Given the description of an element on the screen output the (x, y) to click on. 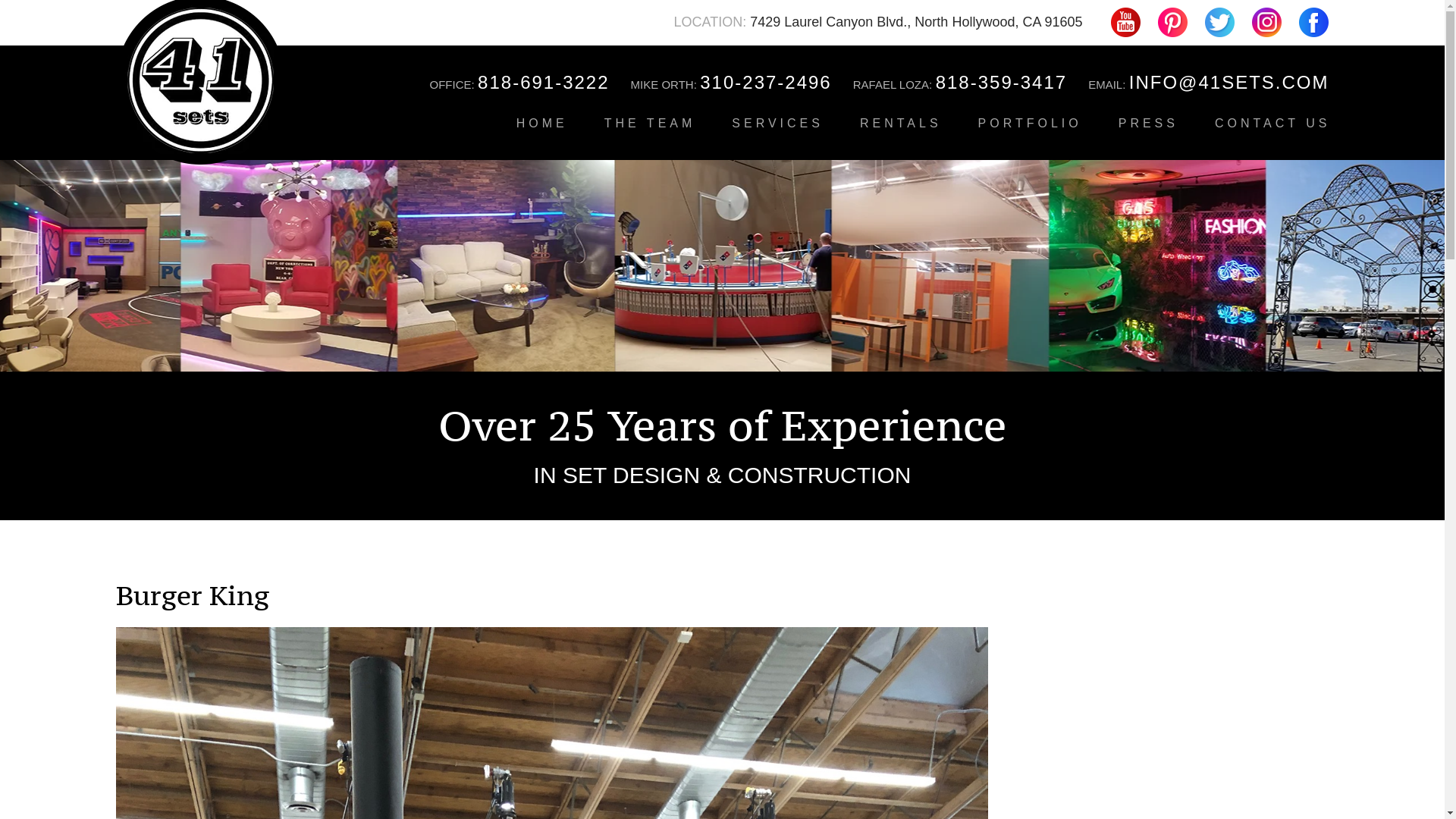
SERVICES Element type: text (777, 122)
INFO@41SETS.COM Element type: text (1229, 82)
310-237-2496 Element type: text (765, 82)
CONTACT US Element type: text (1272, 122)
PORTFOLIO Element type: text (1030, 122)
818-691-3222 Element type: text (542, 82)
THE TEAM Element type: text (650, 122)
818-359-3417 Element type: text (1000, 82)
RENTALS Element type: text (900, 122)
HOME Element type: text (542, 122)
PRESS Element type: text (1148, 122)
